Given the description of an element on the screen output the (x, y) to click on. 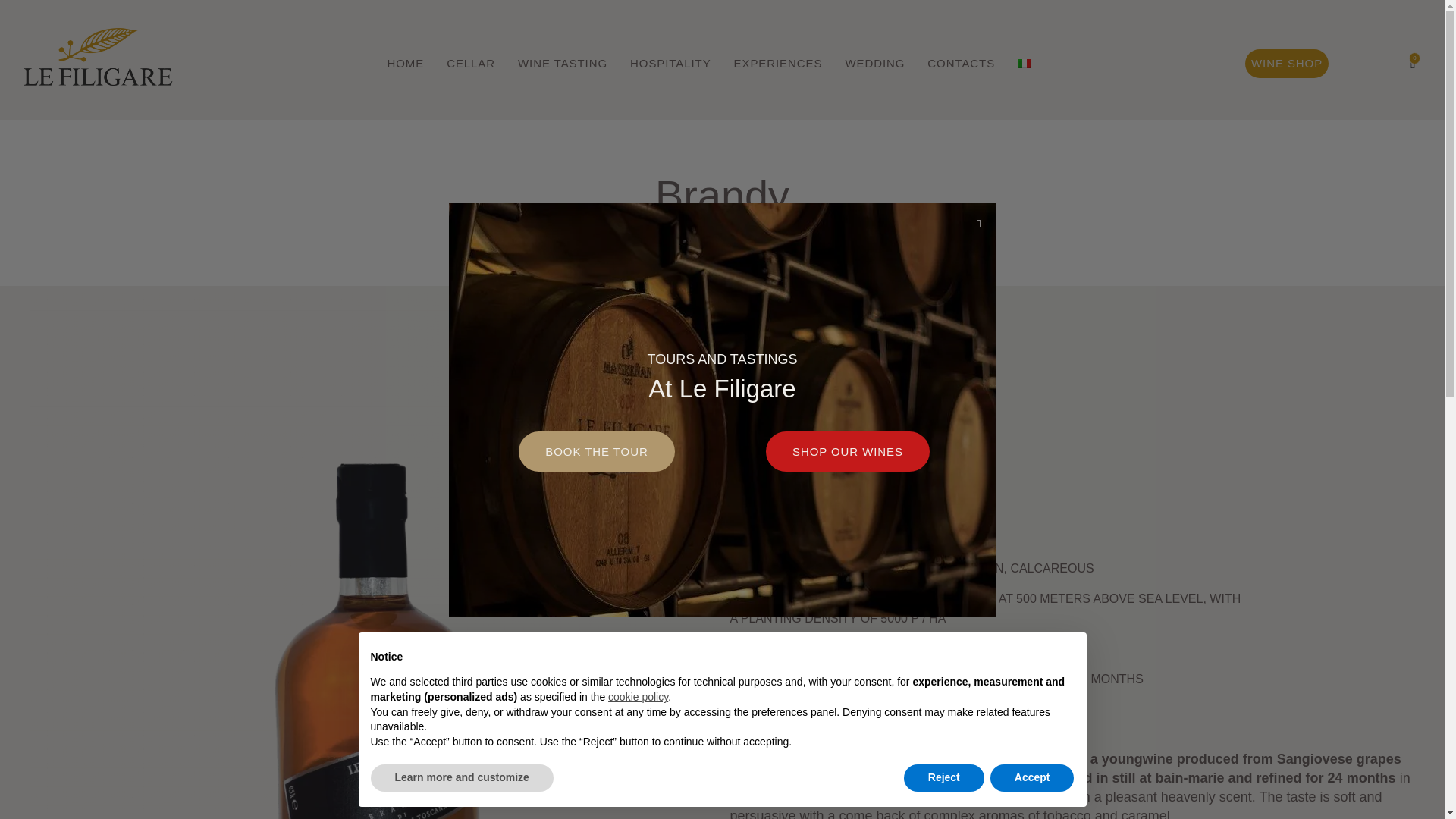
WINE SHOP (1285, 63)
